Given the description of an element on the screen output the (x, y) to click on. 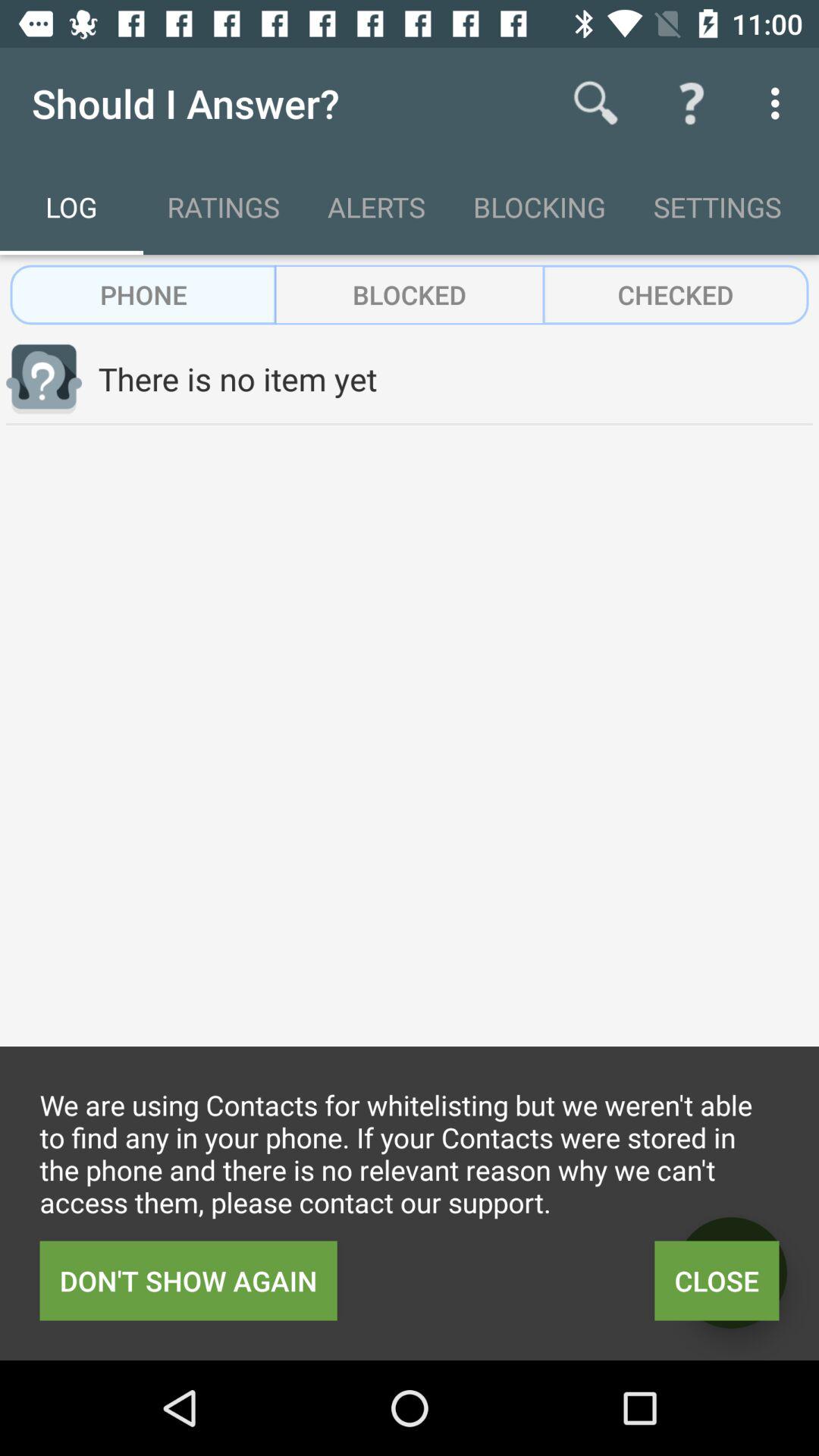
turn off the item below the ratings (409, 294)
